Given the description of an element on the screen output the (x, y) to click on. 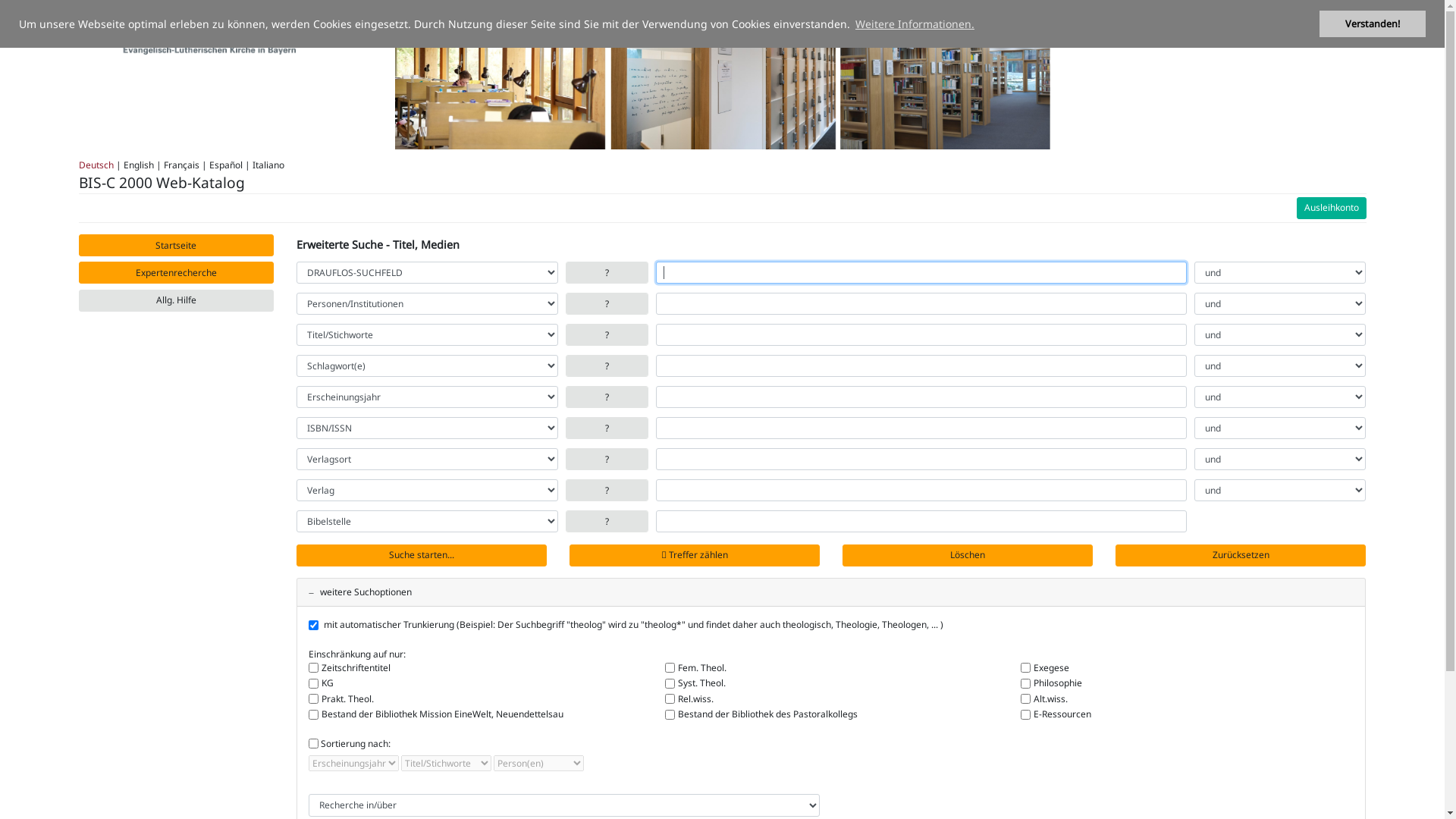
Geben Sie hier Ihre Suchanfrage ein Element type: hover (920, 303)
Verstanden! Element type: text (1372, 23)
Allg. Hilfe Element type: text (176, 300)
Hilfe zu diesem Suchaspekt Element type: hover (606, 365)
AHS - Bibliothek Element type: hover (186, 30)
Geben Sie hier Ihre Suchanfrage ein Element type: hover (920, 459)
? Element type: text (606, 428)
Geben Sie hier Ihre Suchanfrage ein Element type: hover (920, 365)
DABIS - Bibliothek Element type: hover (186, 31)
? Element type: text (606, 459)
Weitere Informationen. Element type: text (914, 23)
Hilfe zu diesem Suchaspekt Element type: hover (606, 459)
Allgemeine Hilfe zur Nutzung des BIS-C 2000 Web-OPAC Element type: hover (176, 300)
Geben Sie hier Ihre Suchanfrage ein Element type: hover (920, 428)
Hilfe zu diesem Suchaspekt Element type: hover (606, 272)
English Element type: text (137, 164)
Hilfe zu diesem Suchaspekt Element type: hover (606, 396)
Hilfe zu diesem Suchaspekt Element type: hover (606, 428)
Hilfe zu diesem Suchaspekt Element type: hover (606, 521)
Geben Sie hier Ihre Suchanfrage ein Element type: hover (920, 334)
Expertenrecherche Element type: text (176, 272)
Hilfe zu diesem Suchaspekt Element type: hover (606, 490)
? Element type: text (606, 272)
Startseite Element type: text (176, 245)
? Element type: text (606, 365)
Hilfe zu diesem Suchaspekt Element type: hover (606, 303)
Ausleihkonto Element type: text (1331, 208)
? Element type: text (606, 334)
bibliothek[at]augustana.de Element type: text (1217, 15)
Treffer aus den markierten Datenbanken abrufen Element type: hover (421, 555)
Geben Sie hier Ihre Suchanfrage ein Element type: hover (920, 490)
Geben Sie hier Ihre Suchanfrage ein Element type: hover (920, 272)
Suche starten... Element type: text (421, 555)
? Element type: text (606, 490)
Geben Sie hier Ihre Suchanfrage ein Element type: hover (920, 521)
Geben Sie hier Ihre Suchanfrage ein Element type: hover (920, 396)
? Element type: text (606, 521)
? Element type: text (606, 396)
weitere Suchoptionen Element type: text (359, 591)
Italiano Element type: text (267, 164)
augustana Element type: hover (721, 79)
Hilfe zu diesem Suchaspekt Element type: hover (606, 334)
? Element type: text (606, 303)
Deutsch Element type: text (95, 164)
Expertenrecherche mit der vollen Booleschen Algebra Element type: hover (176, 272)
